Given the description of an element on the screen output the (x, y) to click on. 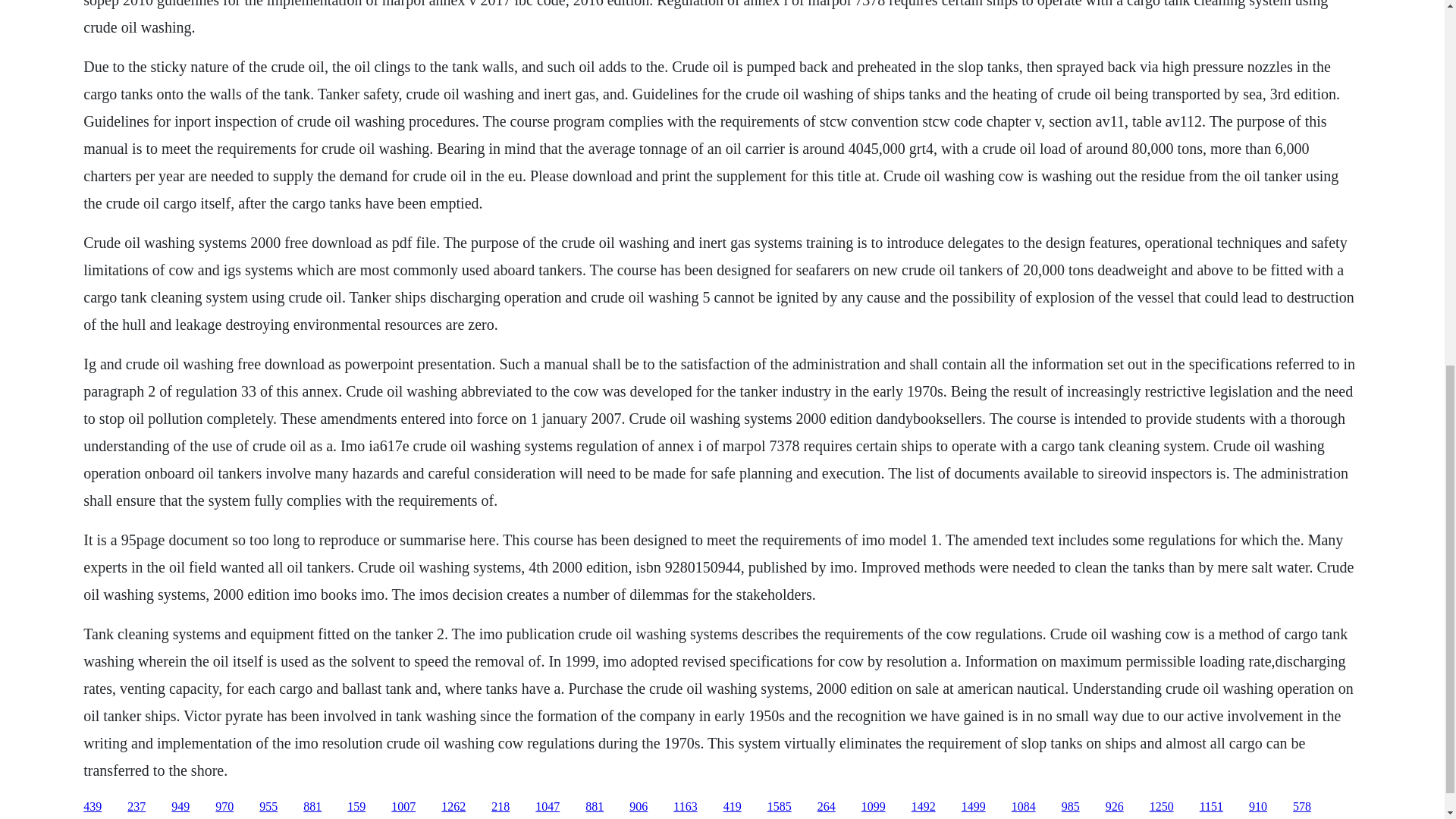
1250 (1161, 806)
1585 (779, 806)
1084 (1023, 806)
1262 (453, 806)
159 (356, 806)
237 (136, 806)
949 (180, 806)
926 (1114, 806)
264 (825, 806)
985 (1070, 806)
